Given the description of an element on the screen output the (x, y) to click on. 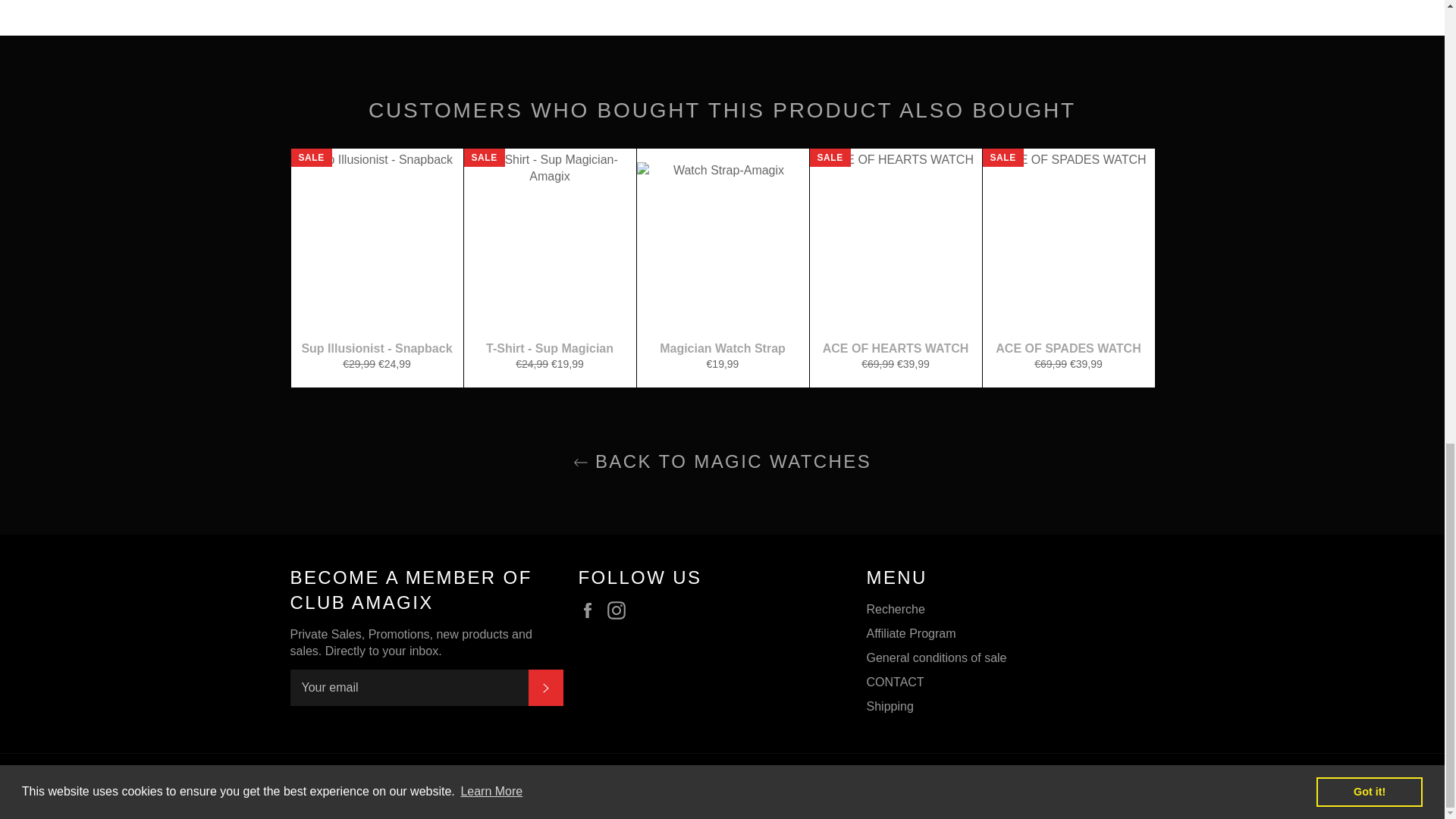
Amagix on Instagram (620, 610)
Amagix on Facebook (591, 610)
